Given the description of an element on the screen output the (x, y) to click on. 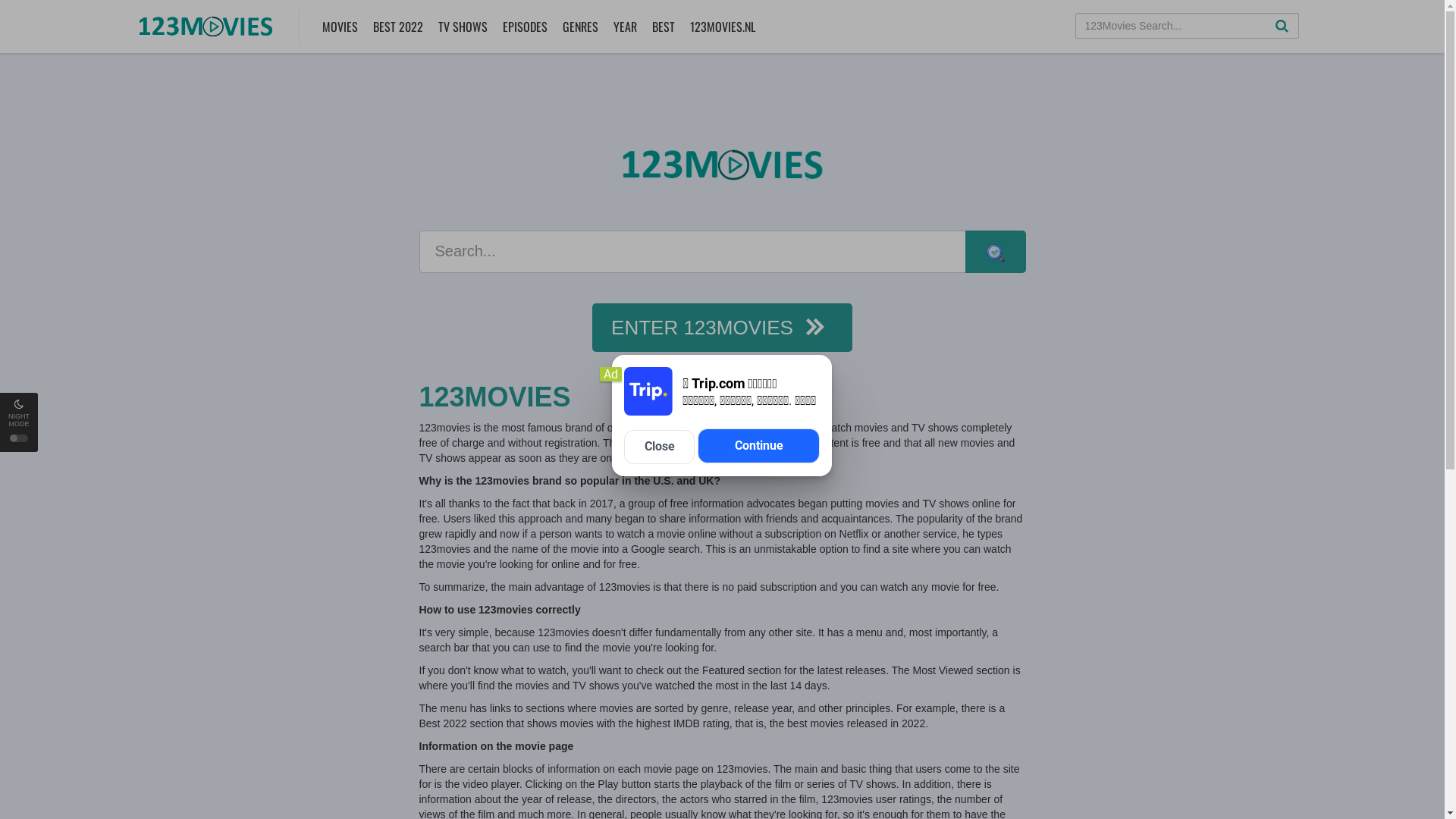
EPISODES Element type: text (524, 26)
123movies Element type: hover (721, 164)
123MOVIES.NL Element type: text (721, 26)
GENRES Element type: text (579, 26)
MOVIES Element type: text (339, 26)
123MOVIES Element type: text (721, 397)
TV SHOWS Element type: text (461, 26)
ENTER 123MOVIES Element type: text (722, 327)
BEST 2022 Element type: text (397, 26)
123Movies Element type: hover (205, 23)
BEST Element type: text (662, 26)
YEAR Element type: text (624, 26)
